Given the description of an element on the screen output the (x, y) to click on. 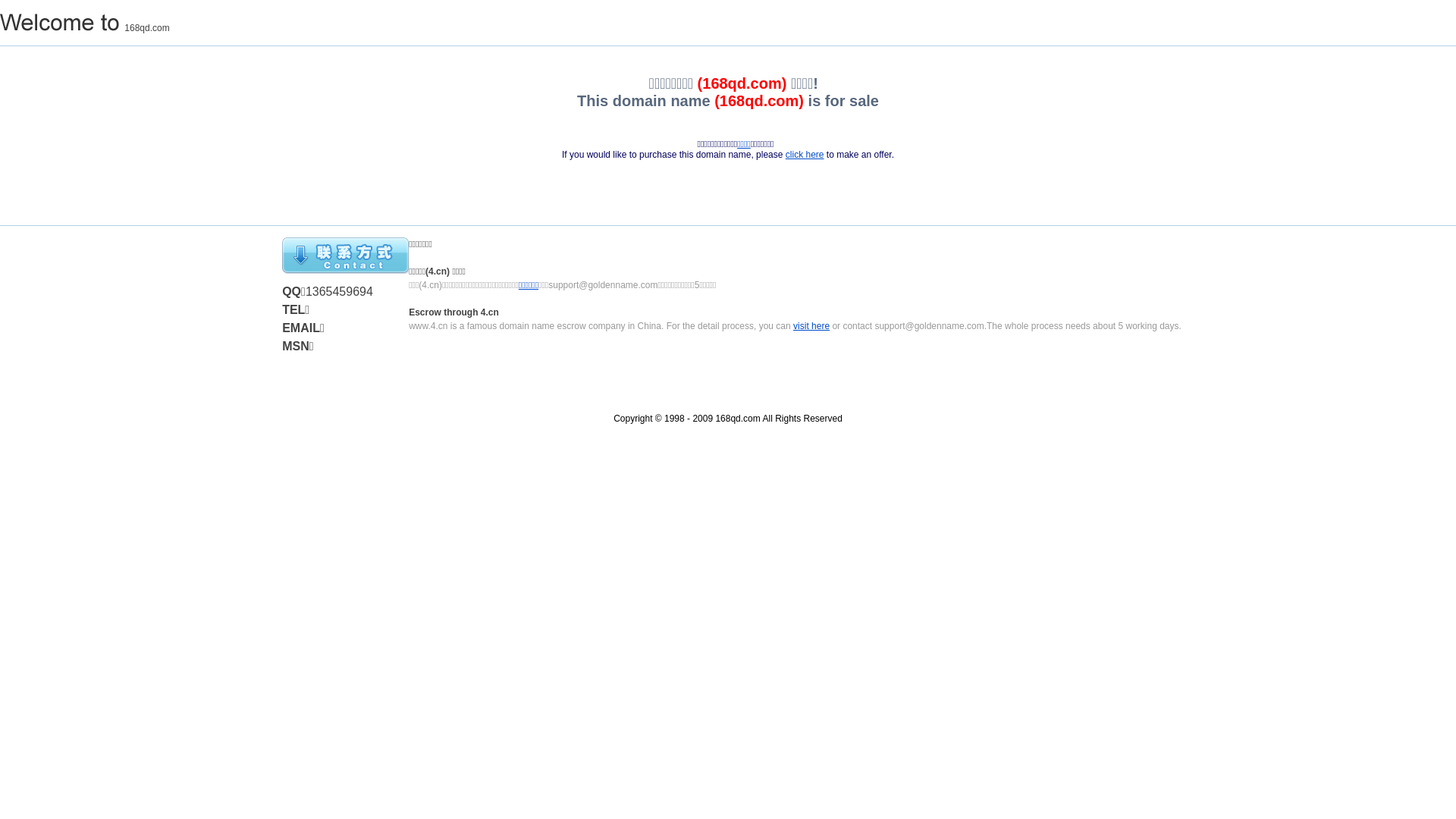
click here Element type: text (804, 154)
visit here Element type: text (811, 325)
